Given the description of an element on the screen output the (x, y) to click on. 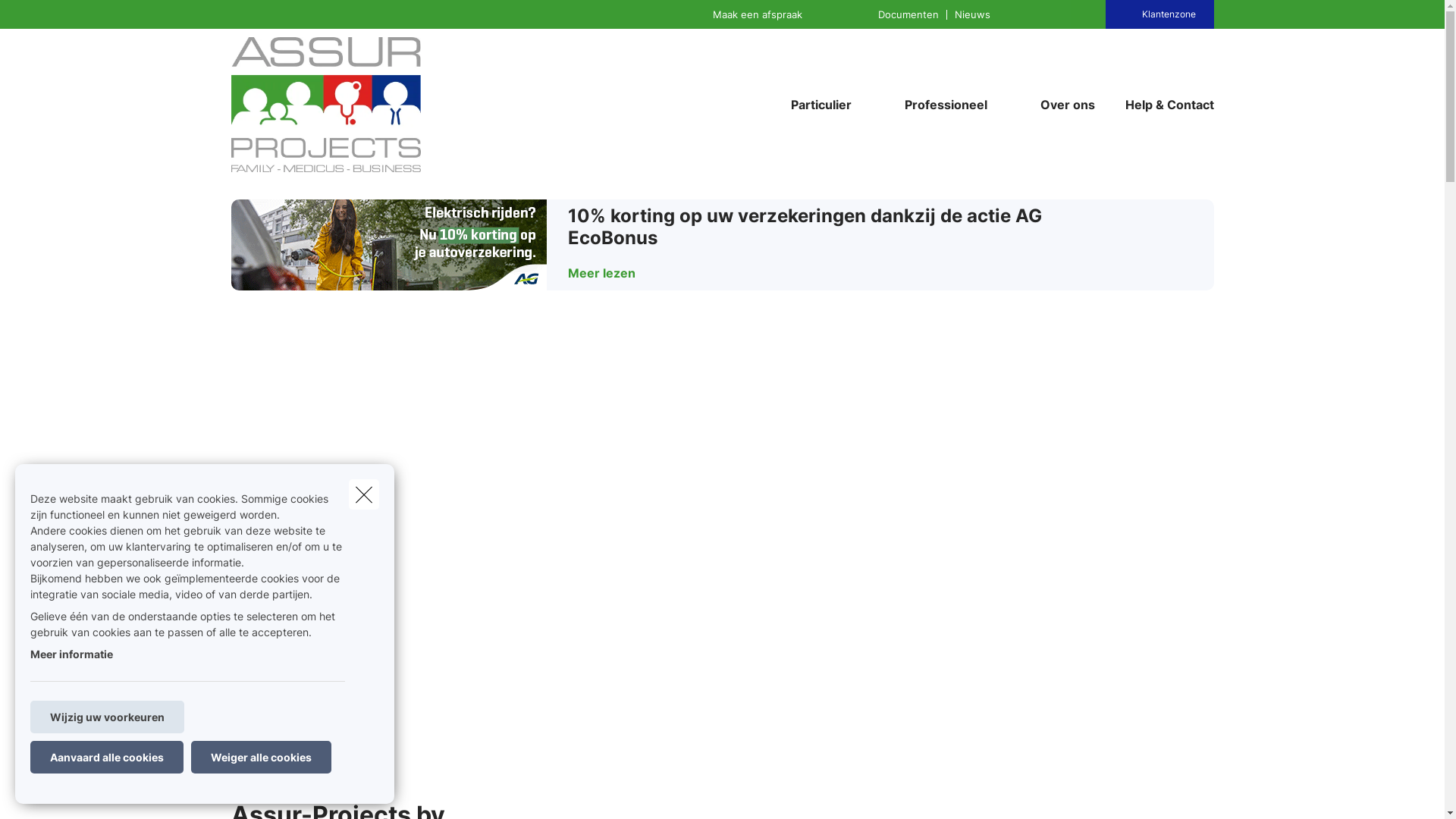
Particulier Element type: text (814, 104)
Weiger alle cookies Element type: text (261, 756)
Aanvaard alle cookies Element type: text (106, 756)
Klantenzone Element type: text (1159, 14)
Help & Contact Element type: text (1162, 104)
Zoeken Element type: text (42, 18)
Nieuws Element type: text (971, 13)
Wijzig uw voorkeuren Element type: text (107, 716)
Over ons Element type: text (1067, 104)
Meer lezen Element type: text (611, 272)
Maak een afspraak Element type: text (757, 13)
Documenten Element type: text (908, 13)
Meer informatie Element type: text (71, 653)
Professioneel Element type: text (939, 104)
Klantenzone Element type: text (1168, 14)
